Given the description of an element on the screen output the (x, y) to click on. 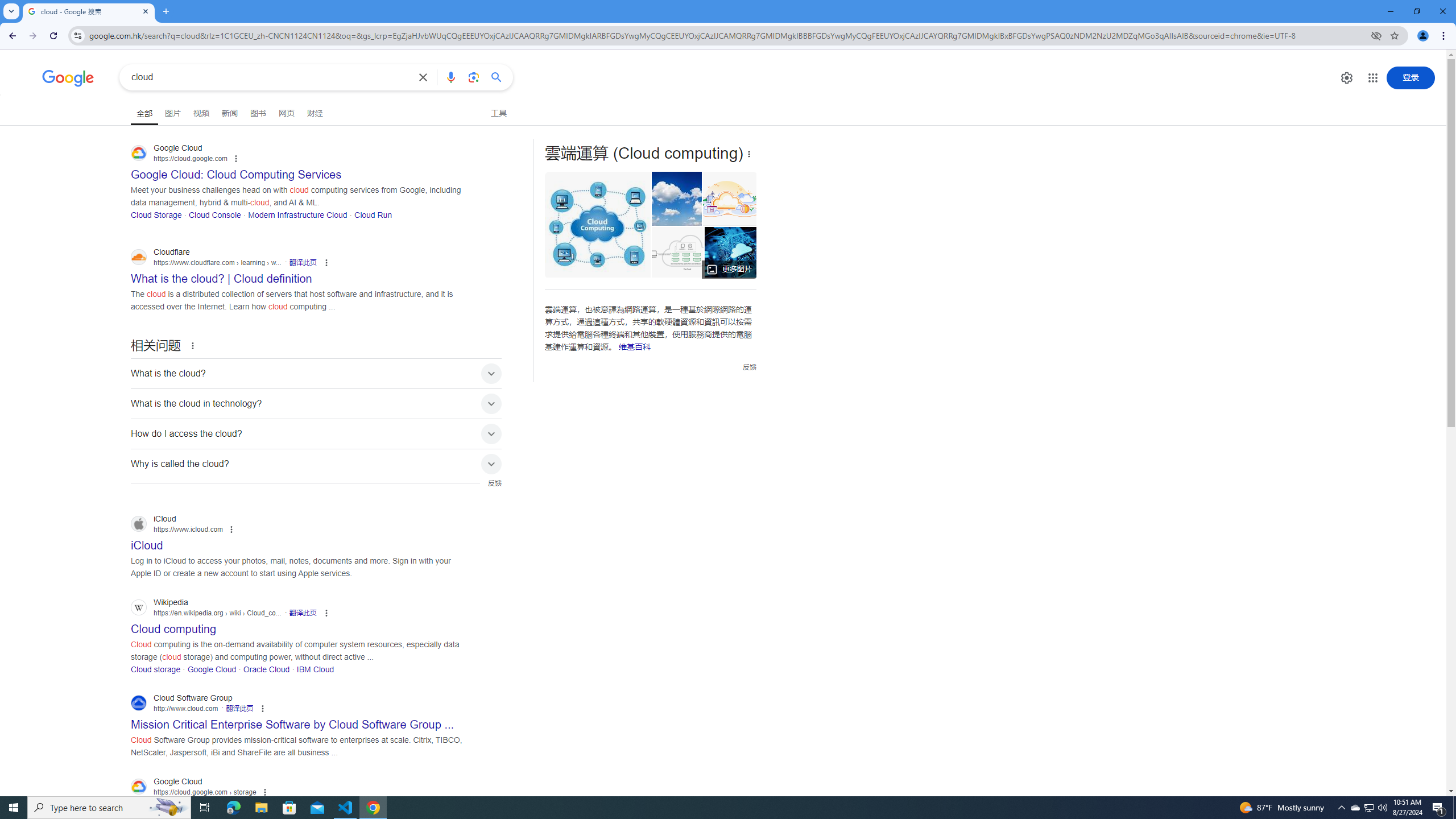
IBM Cloud (315, 669)
Connectivity Cloud | Cloudflare (730, 198)
Why is called the cloud? (316, 463)
What is the cloud in technology? (316, 403)
Oracle Cloud (266, 669)
 iCloud iCloud https://www.icloud.com (147, 541)
